Given the description of an element on the screen output the (x, y) to click on. 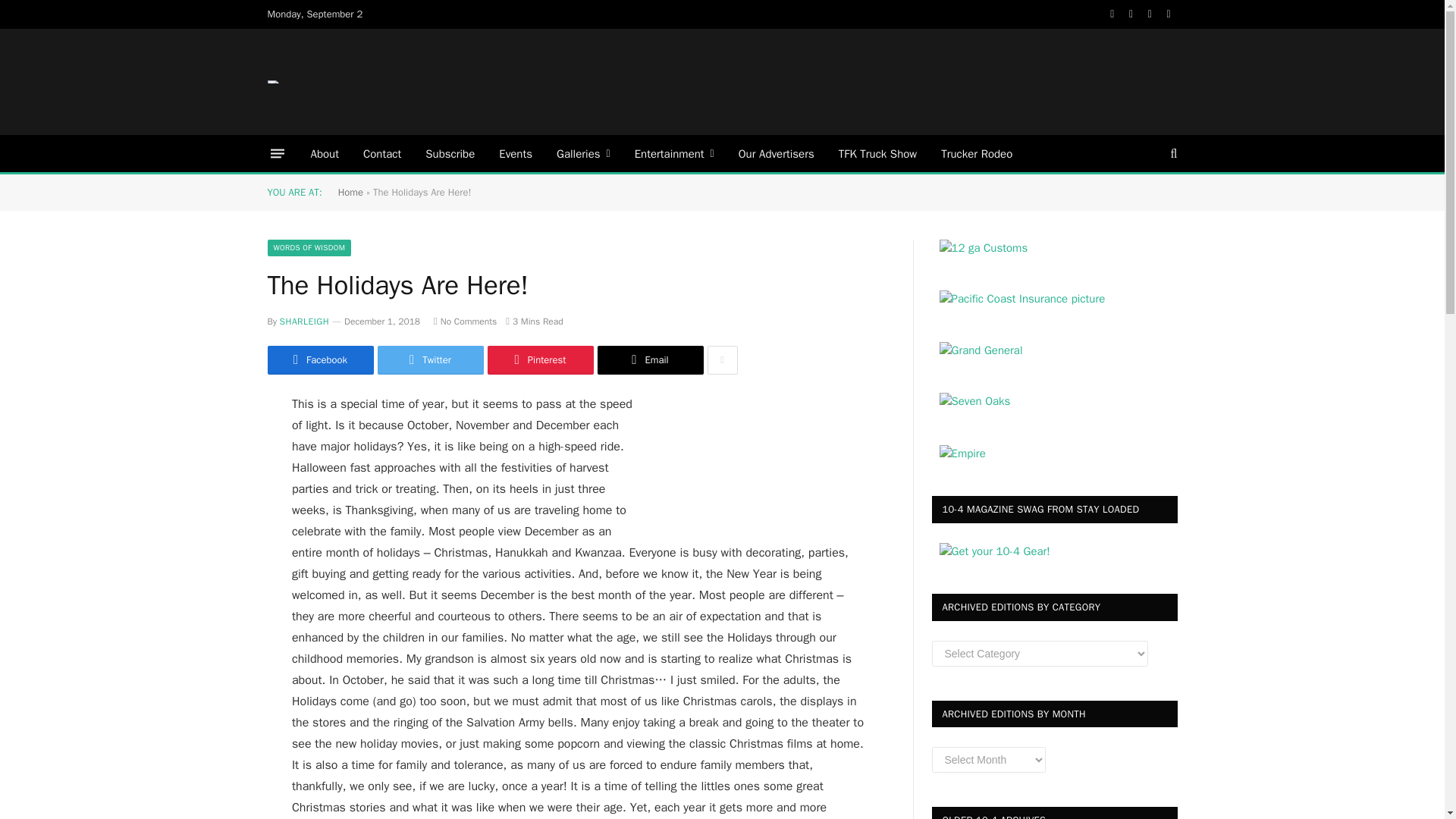
Events (515, 153)
Email (649, 359)
Our Advertisers (776, 153)
WORDS OF WISDOM (308, 247)
About (324, 153)
Share via Email (649, 359)
Share on Pinterest (539, 359)
No Comments (464, 321)
Subscribe (449, 153)
Posts by SharLeigh (304, 321)
